Given the description of an element on the screen output the (x, y) to click on. 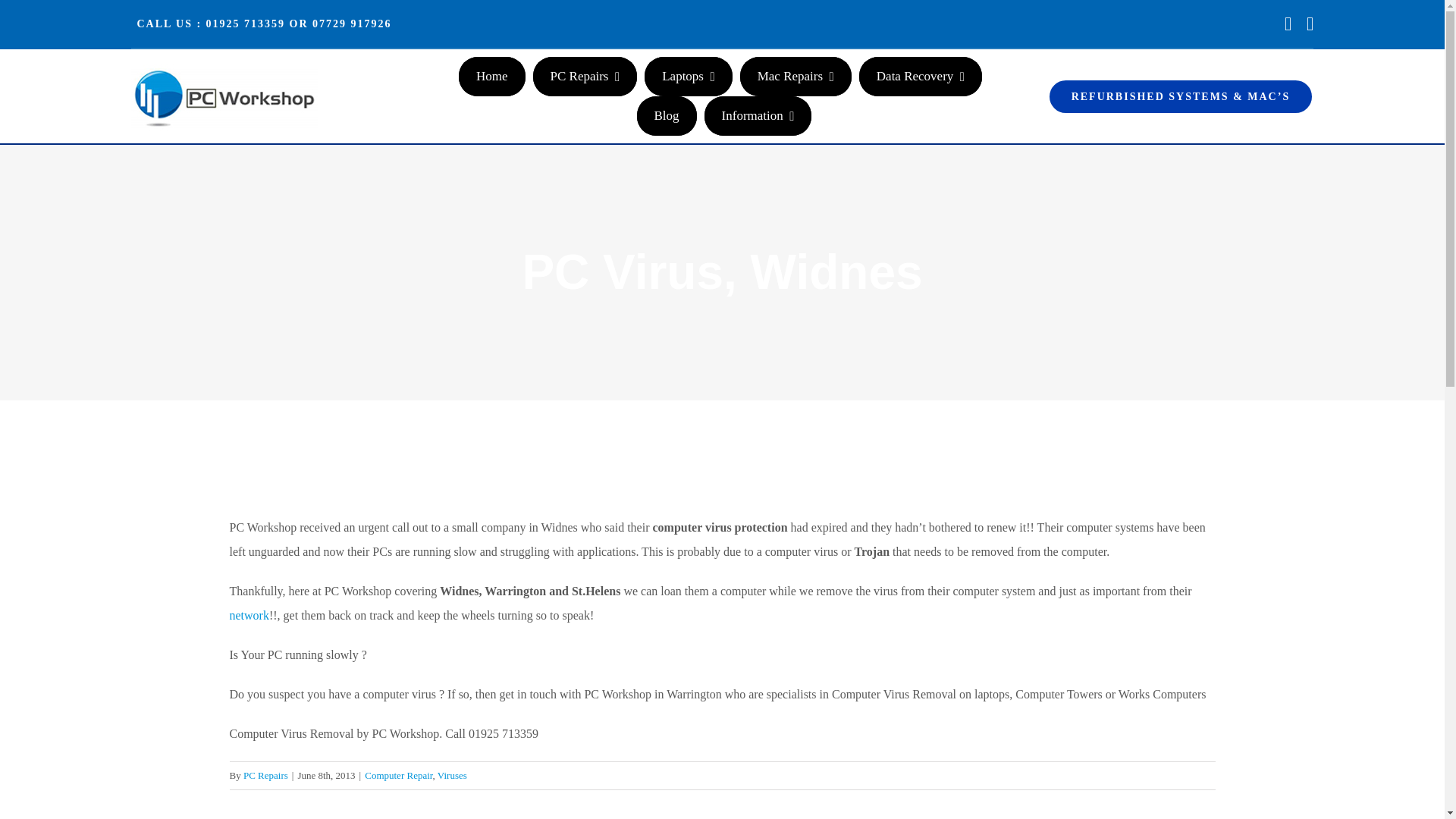
PC Workshop (491, 76)
Network Maintenance (247, 615)
Posts by PC Repairs (265, 775)
network (247, 615)
Information (758, 115)
Blog (667, 115)
PC Repairs (584, 76)
Laptops (688, 76)
Home (491, 76)
Mac Repairs (795, 76)
PC Repairs (265, 775)
Apple Mac Repairs (795, 76)
Data Recovery (920, 76)
CALL US : 01925 713359 OR 07729 917926 (260, 23)
